Given the description of an element on the screen output the (x, y) to click on. 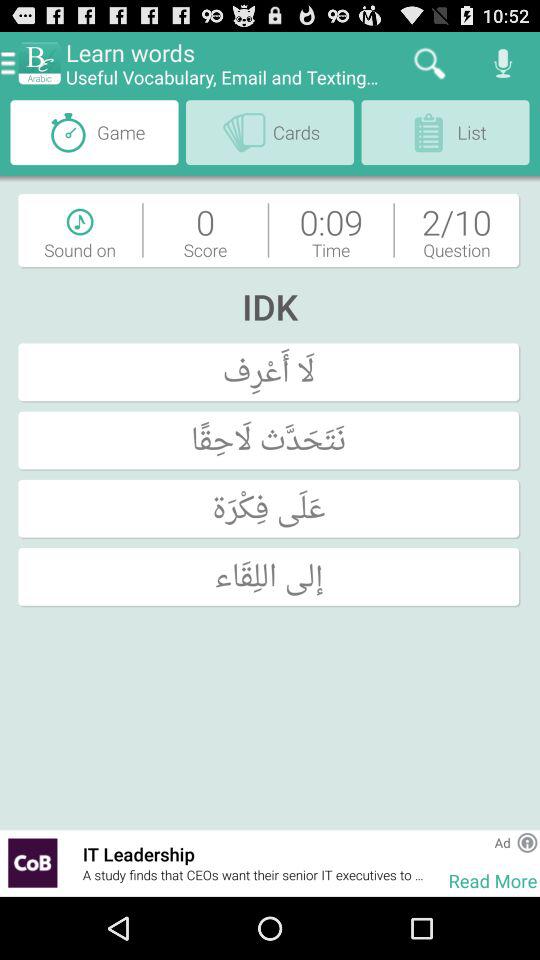
swipe to ad app (502, 842)
